Given the description of an element on the screen output the (x, y) to click on. 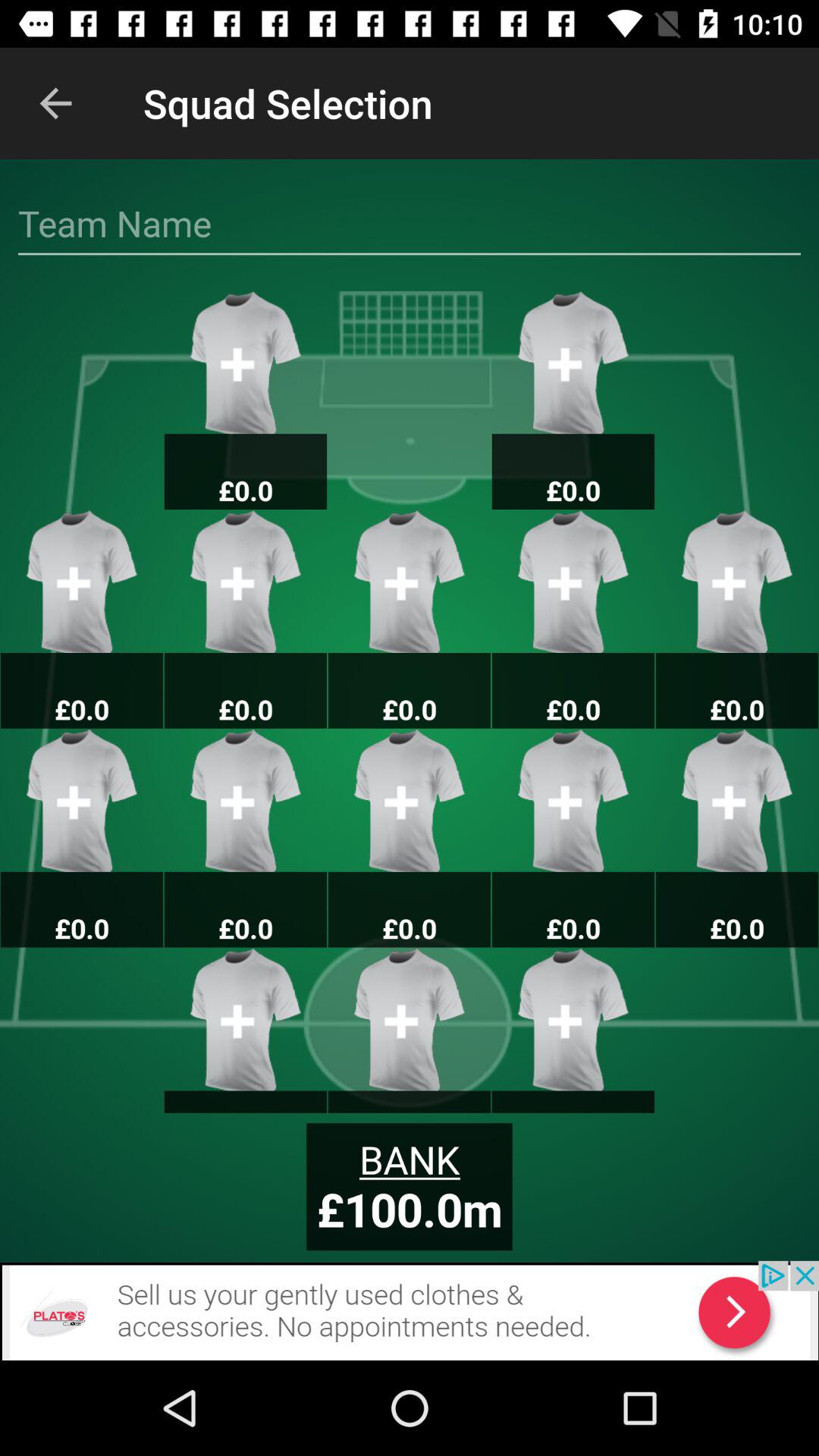
go to back (409, 1310)
